Given the description of an element on the screen output the (x, y) to click on. 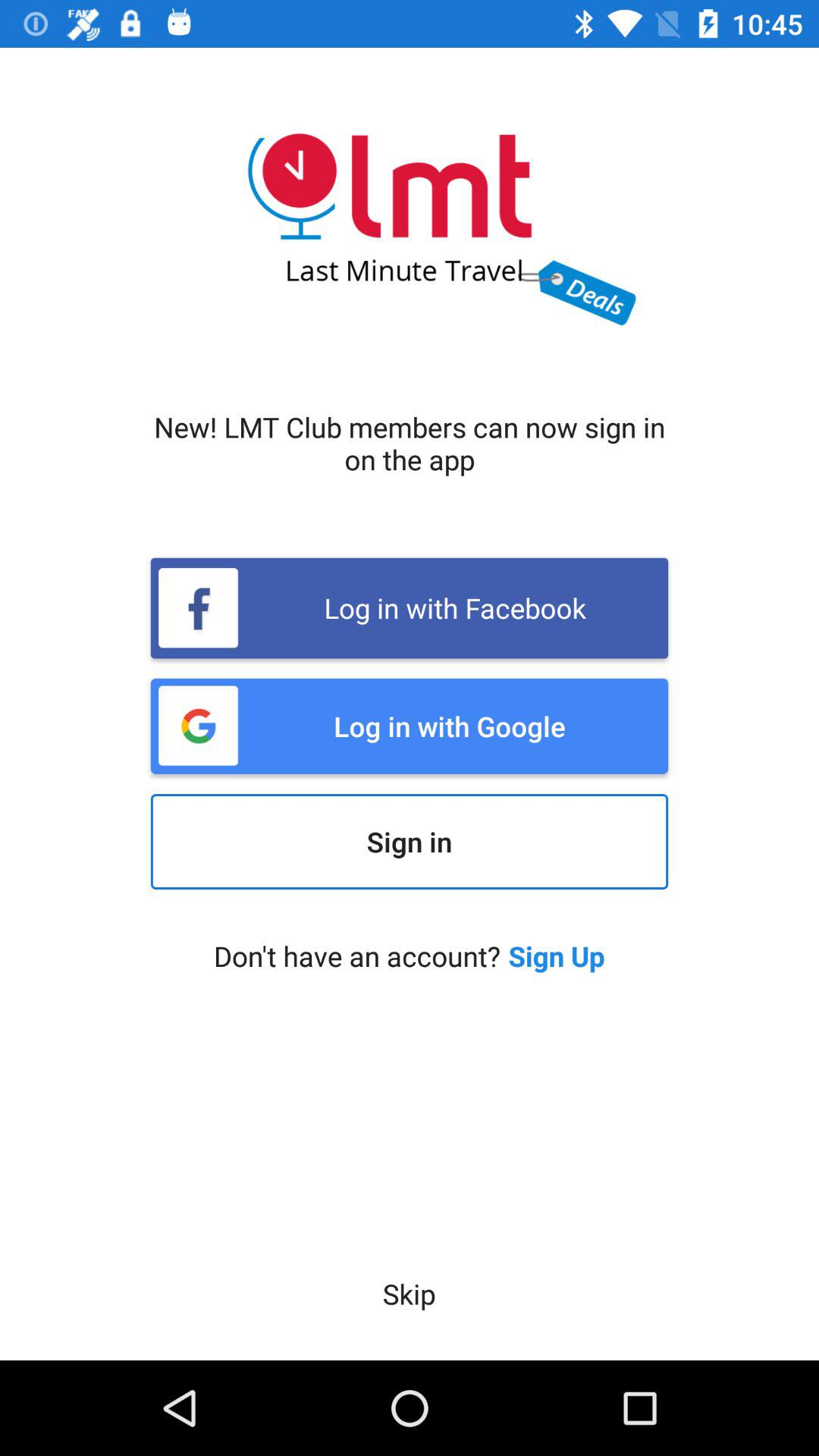
open the item next to the don t have item (556, 955)
